Given the description of an element on the screen output the (x, y) to click on. 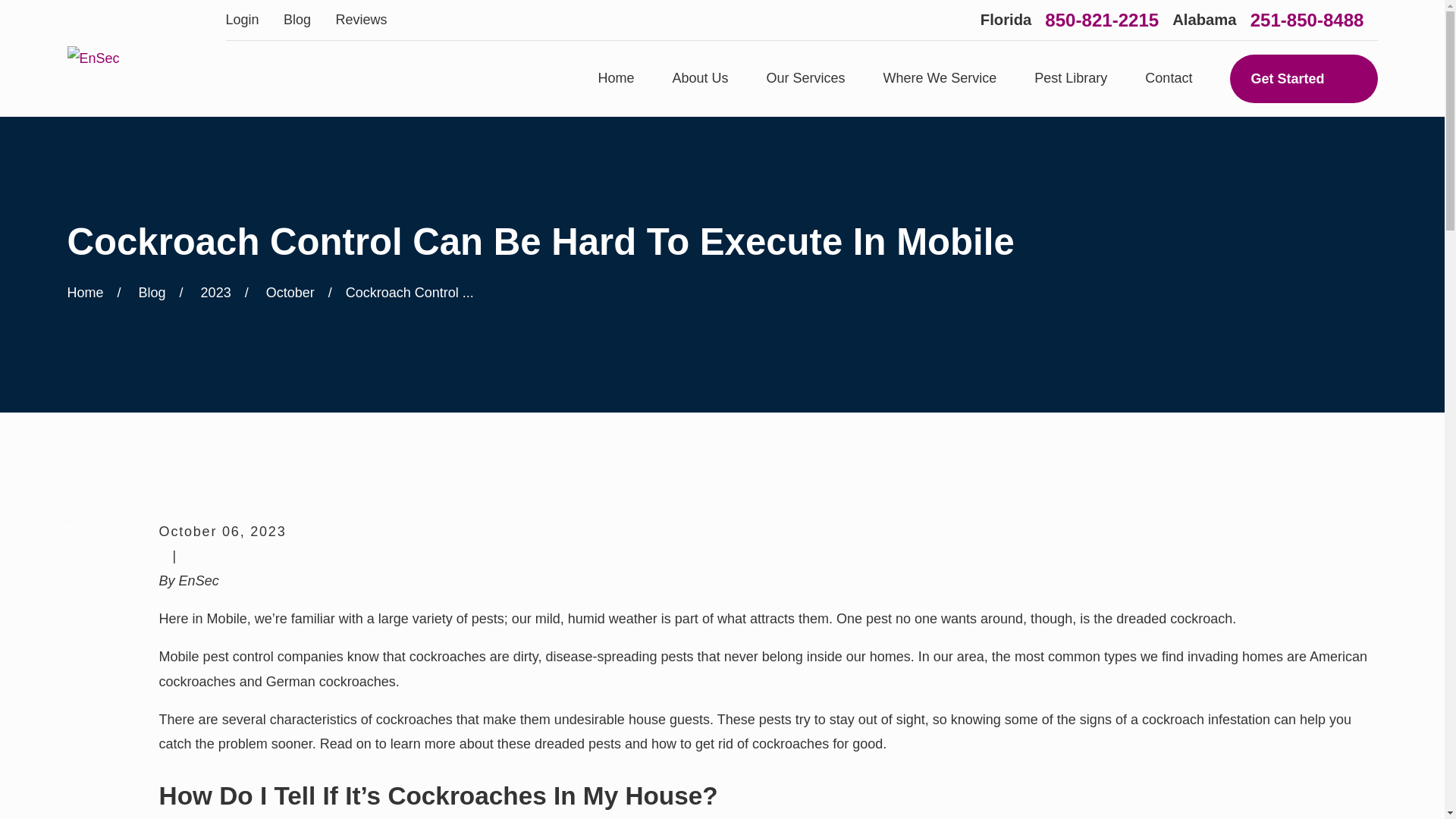
Home (92, 58)
Pest Library (1069, 78)
Blog (297, 19)
Go Home (84, 292)
About Us (700, 78)
Login (242, 19)
850-821-2215 (1101, 19)
EnSec (92, 57)
Where We Service (940, 78)
Contact (1168, 78)
